Given the description of an element on the screen output the (x, y) to click on. 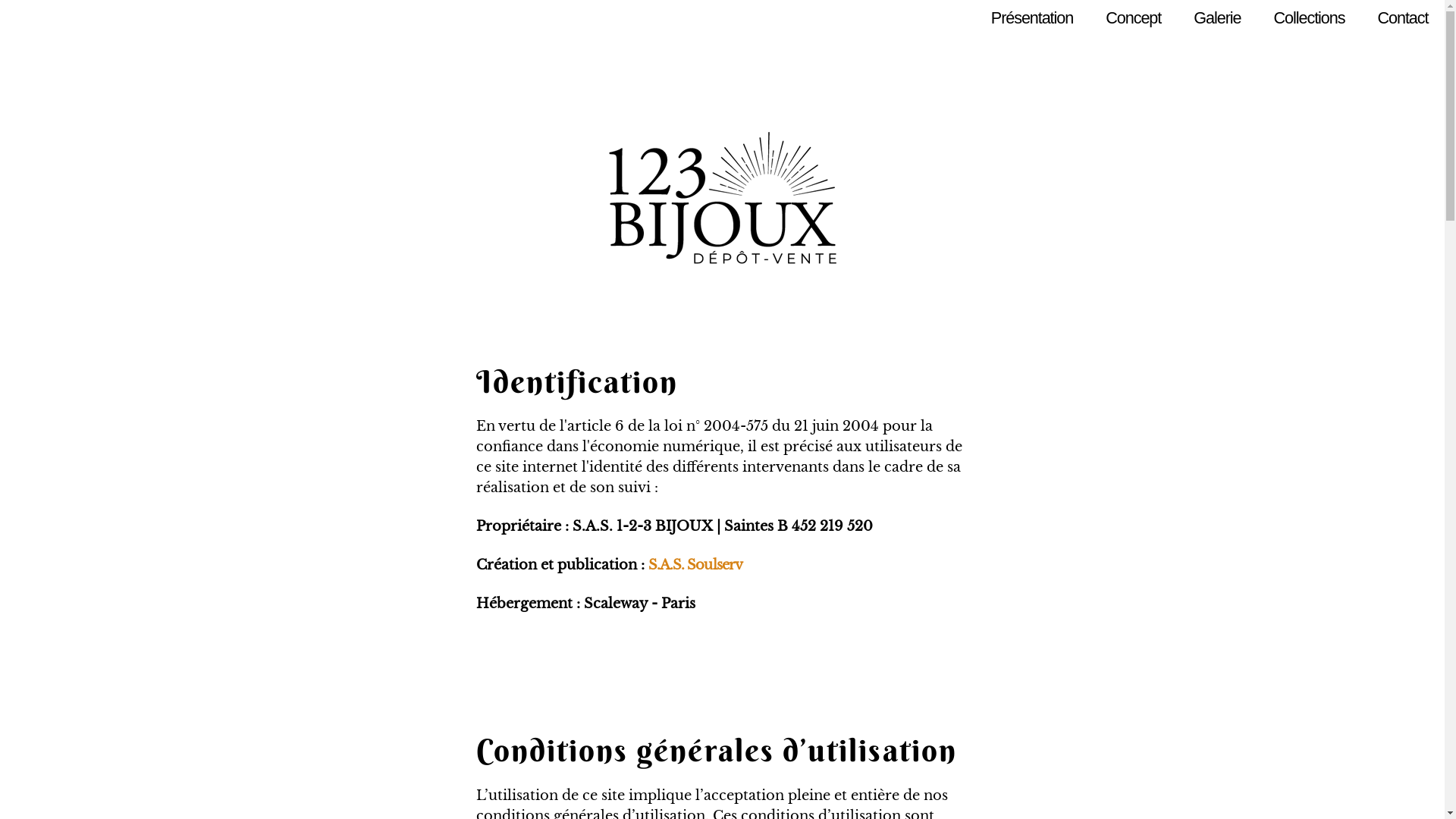
Galerie Element type: text (1217, 18)
Concept Element type: text (1133, 18)
S.A.S. Soulserv Element type: text (694, 564)
Contact Element type: text (1402, 18)
Collections Element type: text (1309, 18)
